Given the description of an element on the screen output the (x, y) to click on. 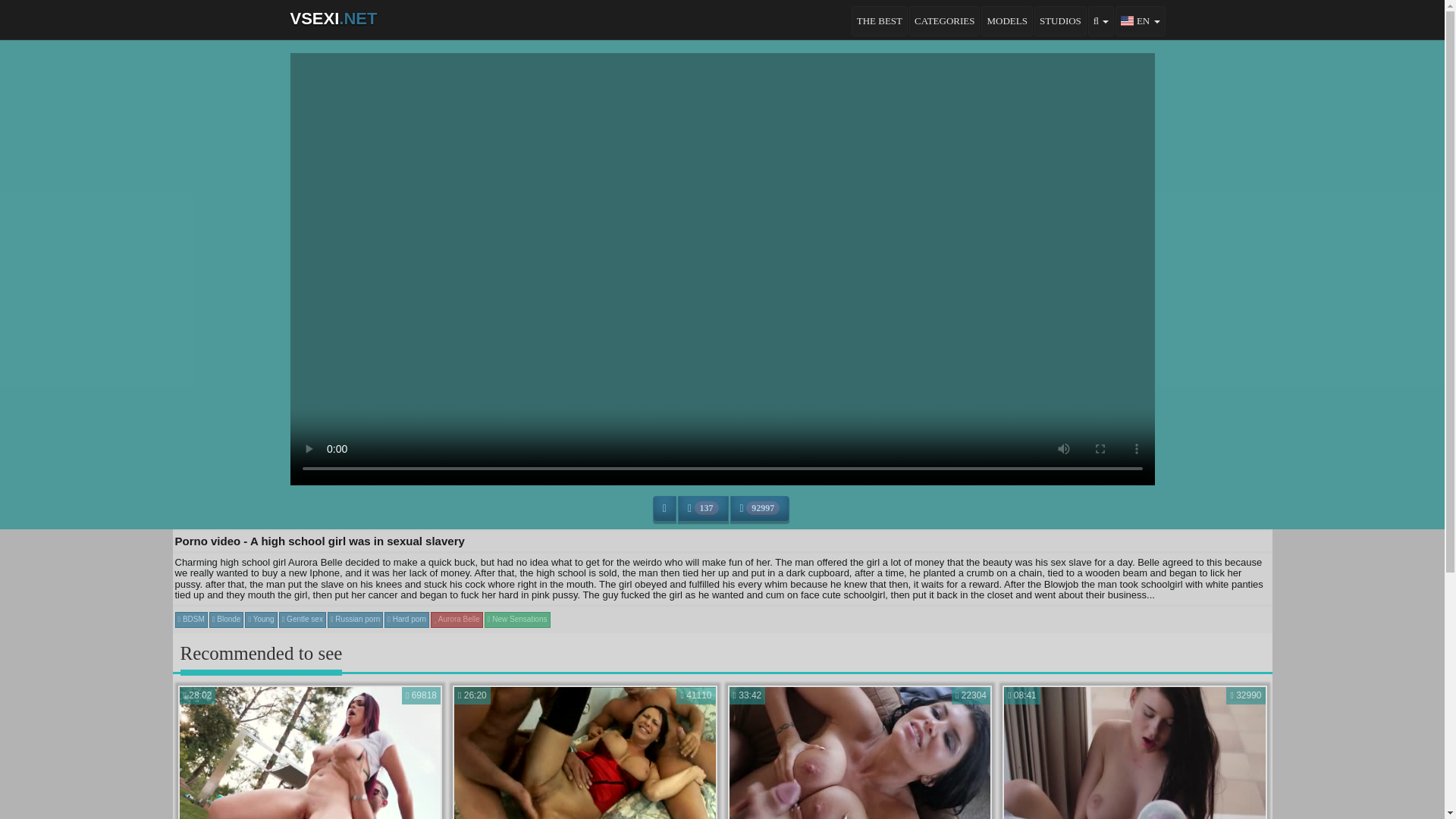
Man fucked sexy sister of his wife (309, 752)
Download video (664, 508)
Categories of porn videos (943, 20)
92997 (309, 752)
Views (584, 752)
Aurora Belle (760, 508)
MODELS (760, 508)
Young (456, 619)
Hard porn (1006, 20)
Wealthy men ordered a Mature prostitute (260, 619)
EN (406, 619)
